Given the description of an element on the screen output the (x, y) to click on. 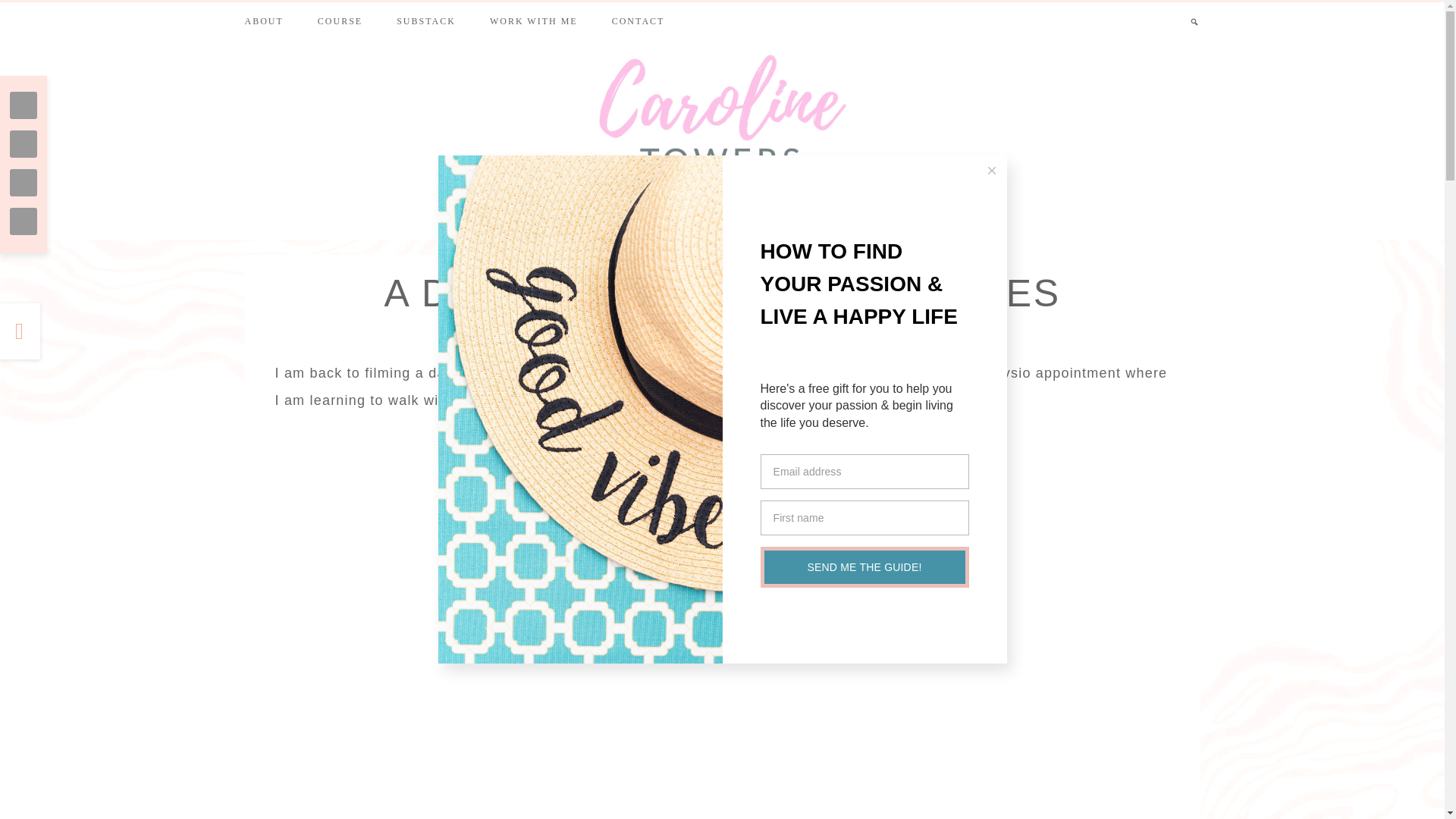
LIFESTYLE (638, 201)
CAROLINE (725, 332)
WORK WITH ME (533, 20)
here (755, 400)
Caroline Towers (722, 112)
TRAVEL (725, 201)
2 COMMENTS (811, 332)
BUSINESS (808, 201)
ABOUT (263, 20)
SUBSTACK (425, 19)
CONTACT (637, 20)
COURSE (339, 19)
